Given the description of an element on the screen output the (x, y) to click on. 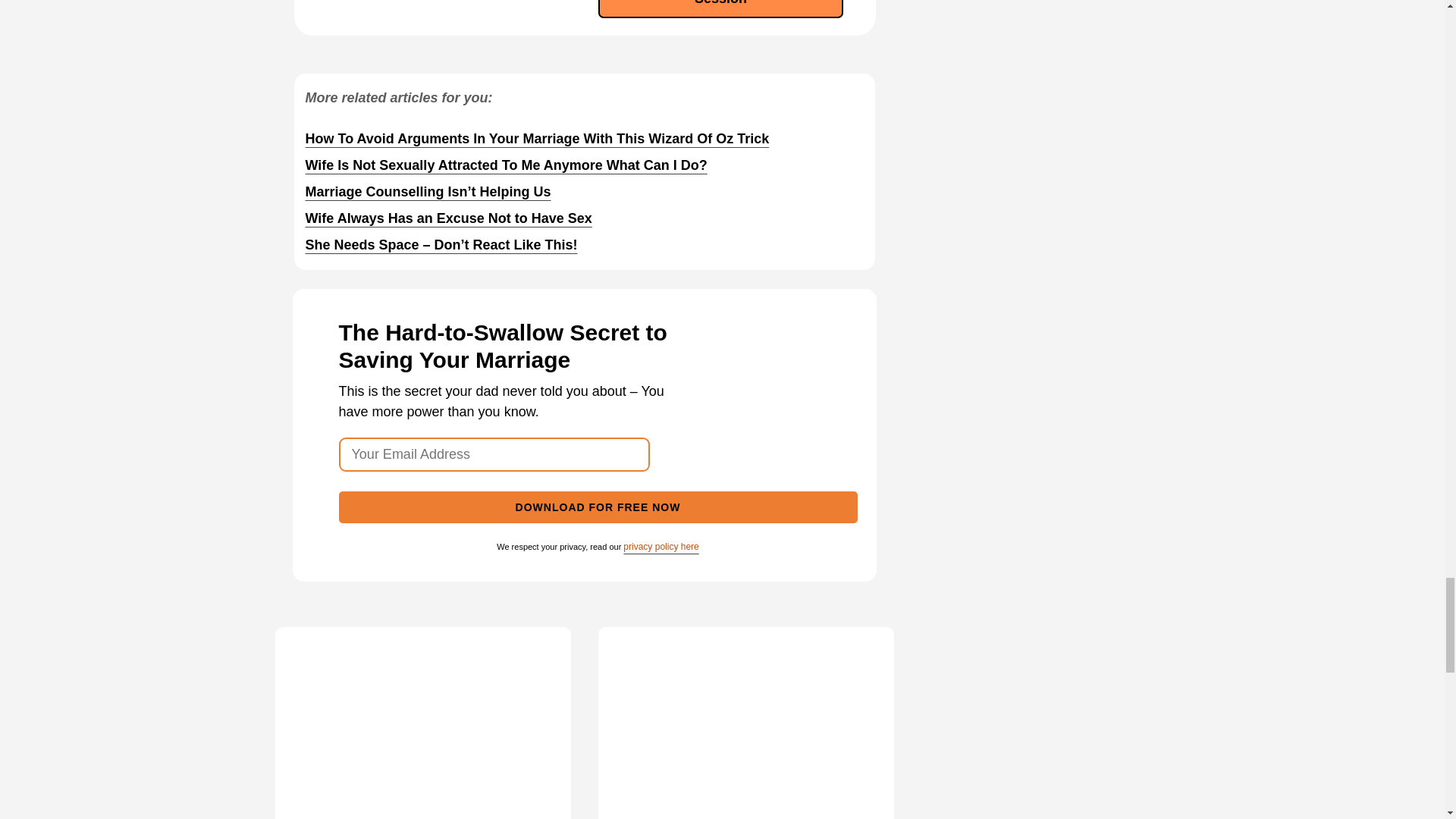
Privacy Policy (660, 546)
Download for Free Now (597, 507)
